Given the description of an element on the screen output the (x, y) to click on. 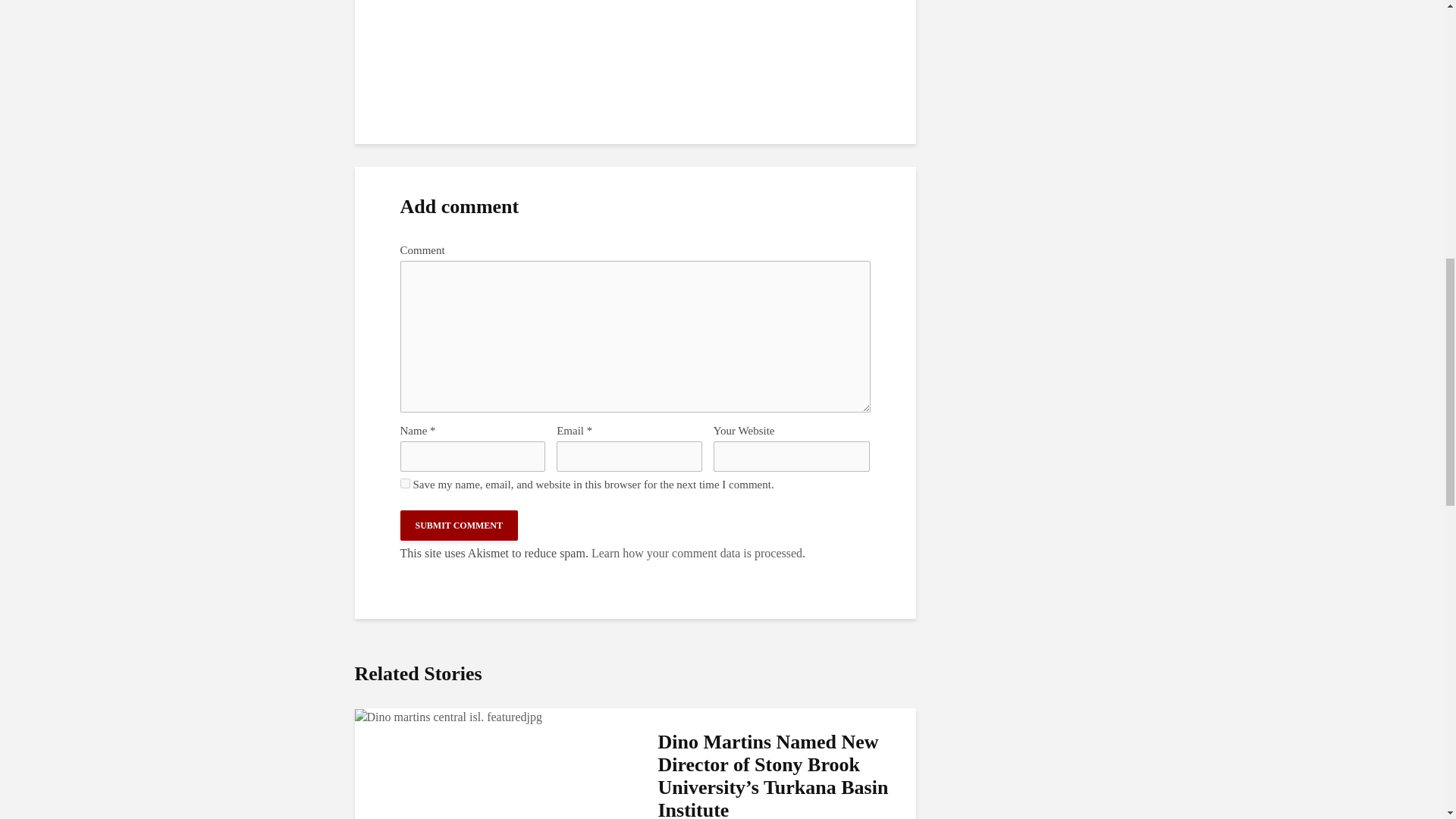
Submit Comment (459, 525)
yes (405, 483)
